Given the description of an element on the screen output the (x, y) to click on. 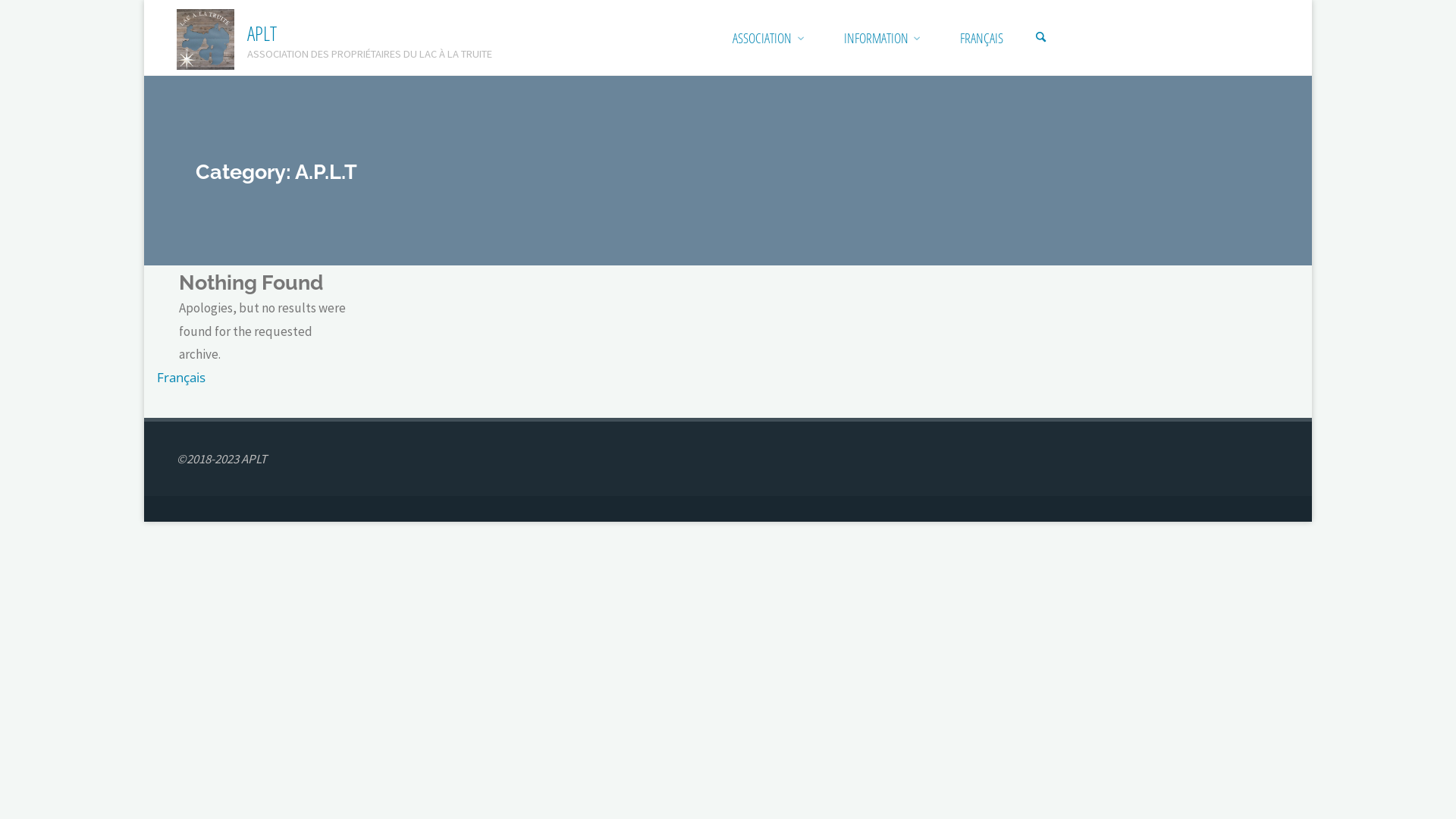
ASSOCIATION Element type: text (762, 37)
INFORMATION Element type: text (875, 37)
APLT Element type: hover (204, 37)
APLT Element type: text (261, 33)
